Given the description of an element on the screen output the (x, y) to click on. 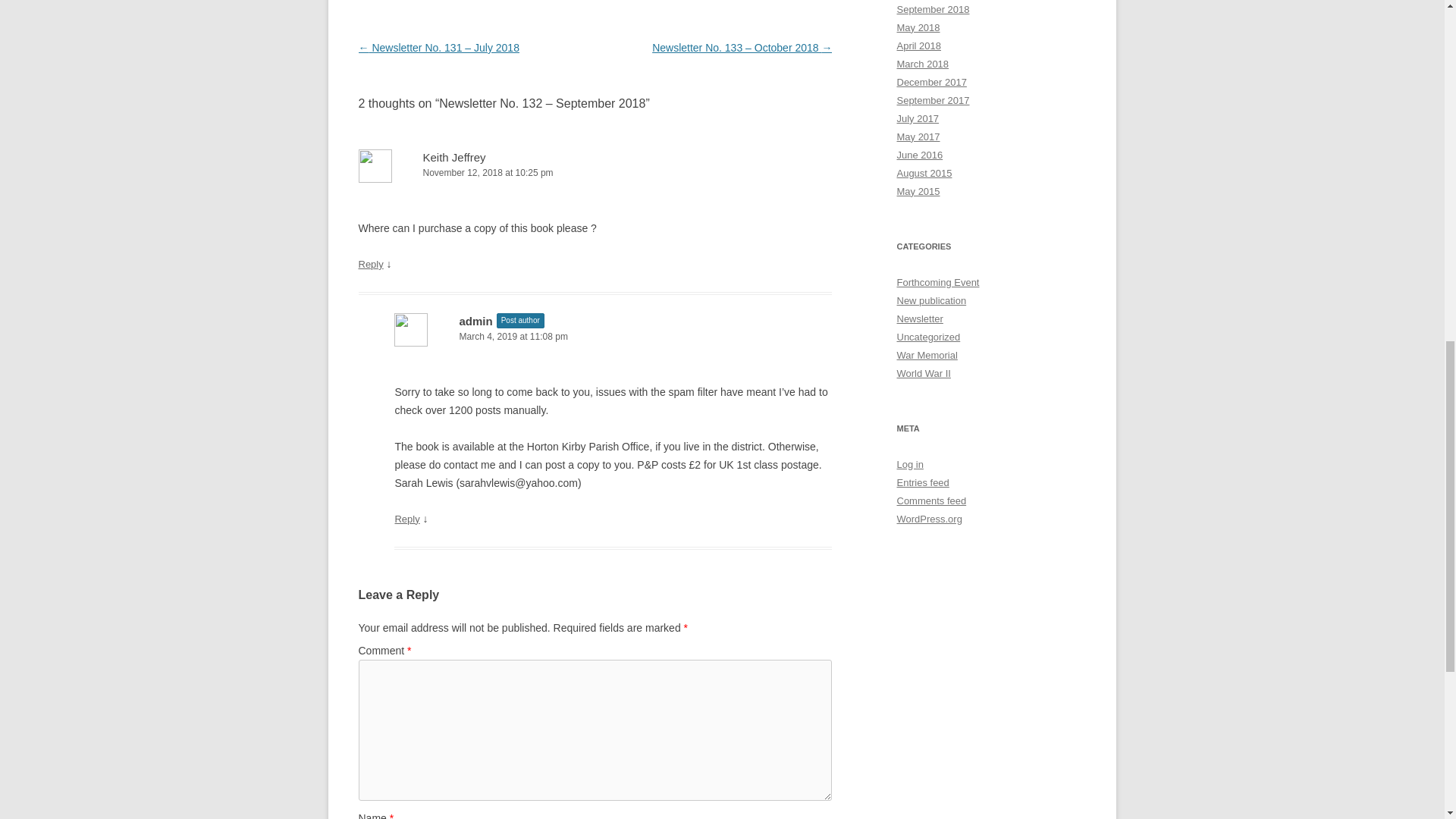
Reply (370, 264)
November 12, 2018 at 10:25 pm (594, 172)
March 4, 2019 at 11:08 pm (612, 336)
Reply (406, 518)
